Given the description of an element on the screen output the (x, y) to click on. 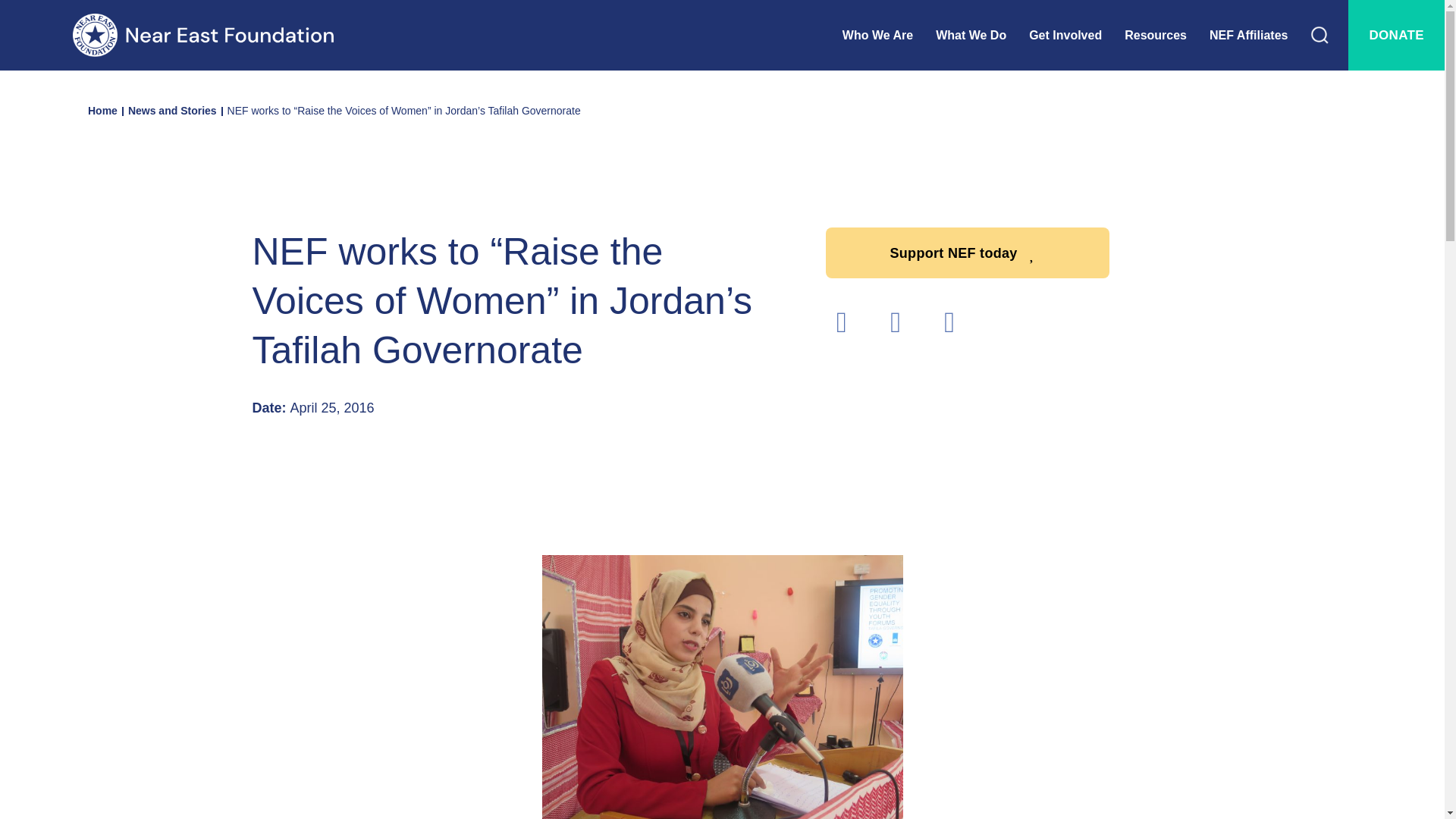
NEF Affiliates (1259, 34)
What We Do (982, 34)
Who We Are (889, 34)
Resources (1166, 34)
Get Involved (1076, 34)
